Given the description of an element on the screen output the (x, y) to click on. 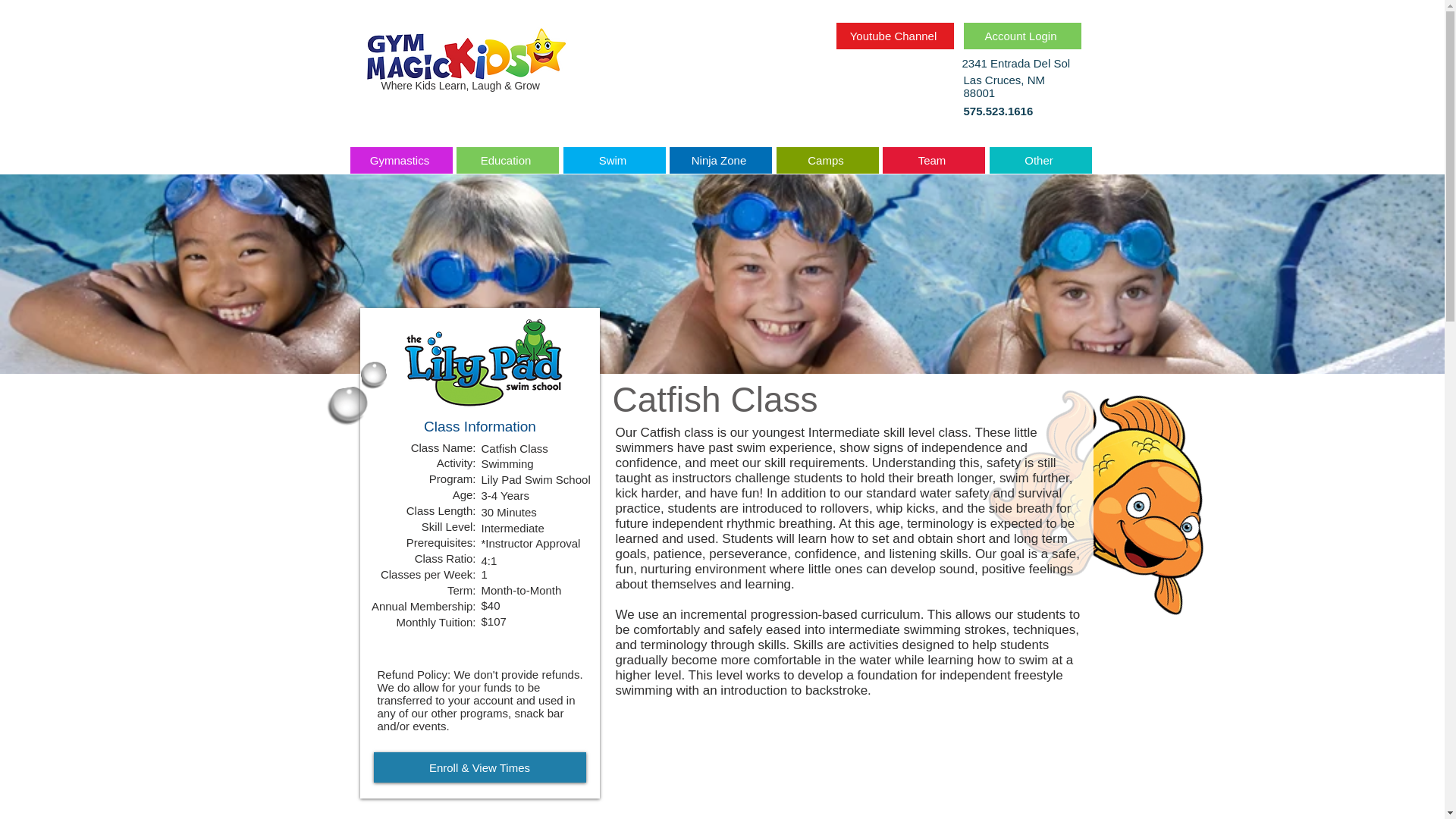
Team (933, 160)
Swim (613, 160)
Education (508, 160)
Camps (827, 160)
Gymnastics (401, 160)
Ninja Zone (719, 160)
Account Login (1021, 35)
Other (1039, 160)
Homepage (465, 52)
Youtube Channel (894, 35)
